Given the description of an element on the screen output the (x, y) to click on. 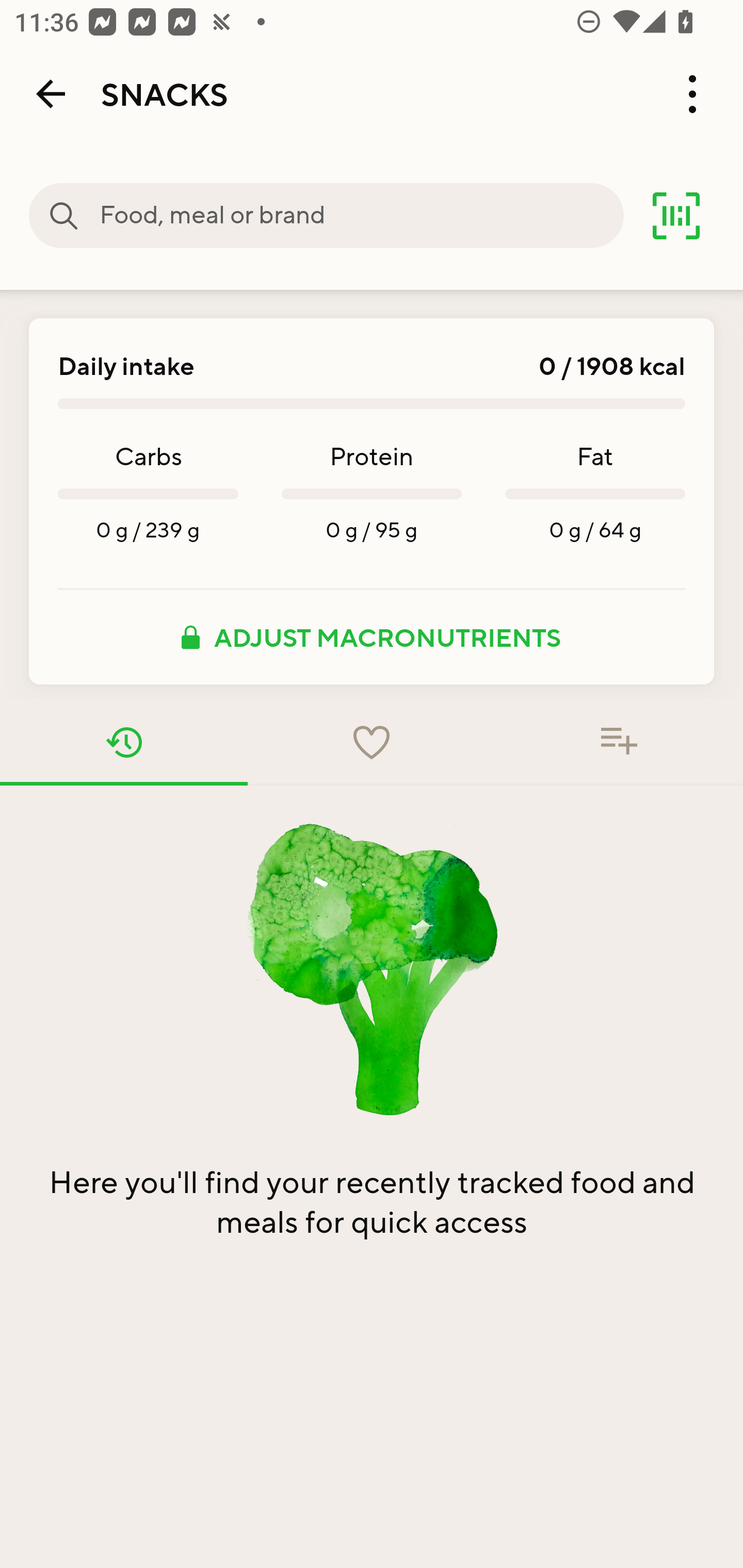
Back (50, 93)
Food, meal or brand (63, 215)
Food, meal or brand (361, 215)
ADJUST MACRONUTRIENTS (371, 637)
Favorites (371, 742)
Food added (619, 742)
